Given the description of an element on the screen output the (x, y) to click on. 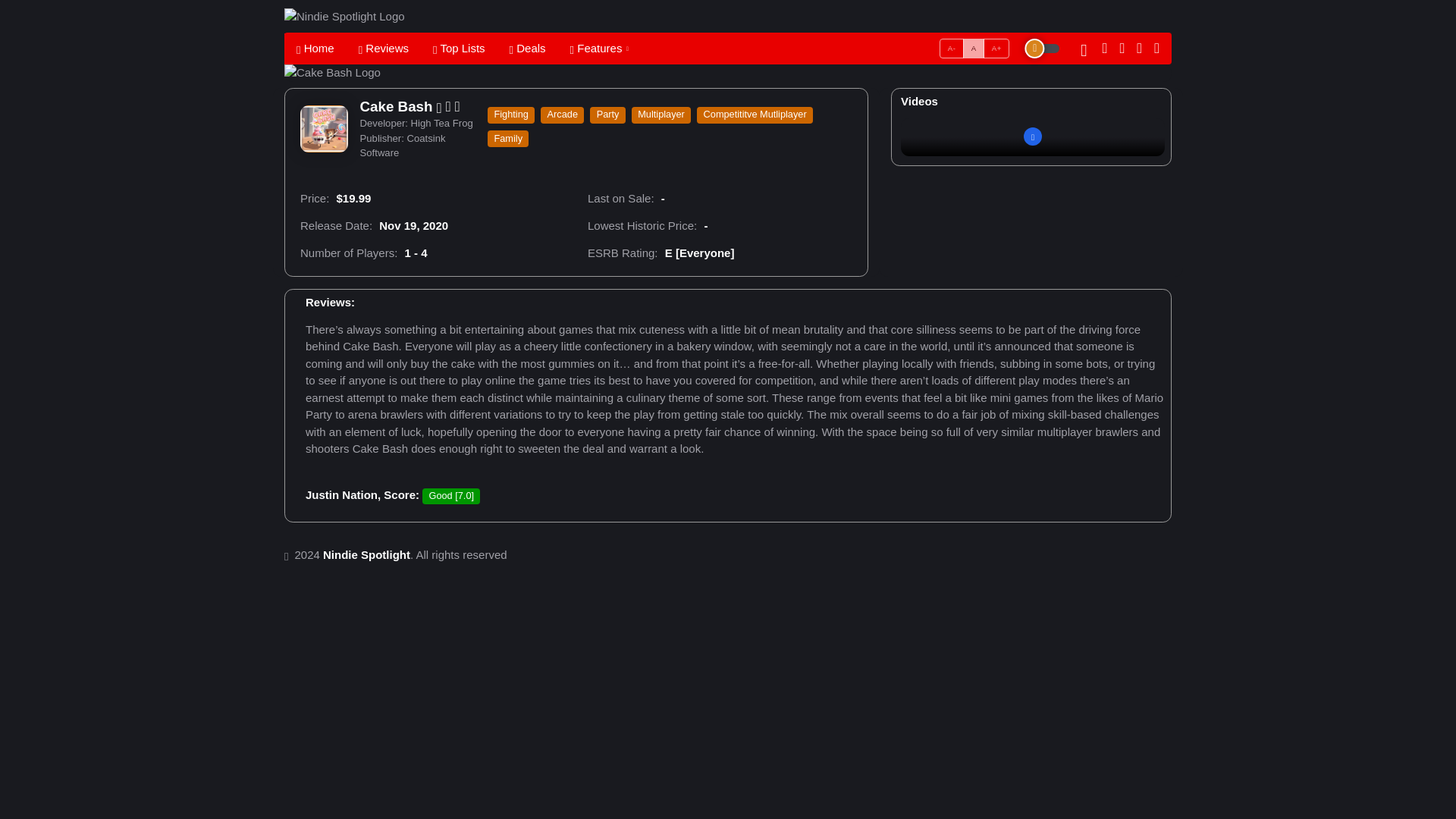
Home (314, 48)
on (945, 43)
on (945, 43)
on (945, 43)
Top Lists (458, 48)
Features (592, 48)
Reviews (455, 48)
Deals (383, 48)
